Given the description of an element on the screen output the (x, y) to click on. 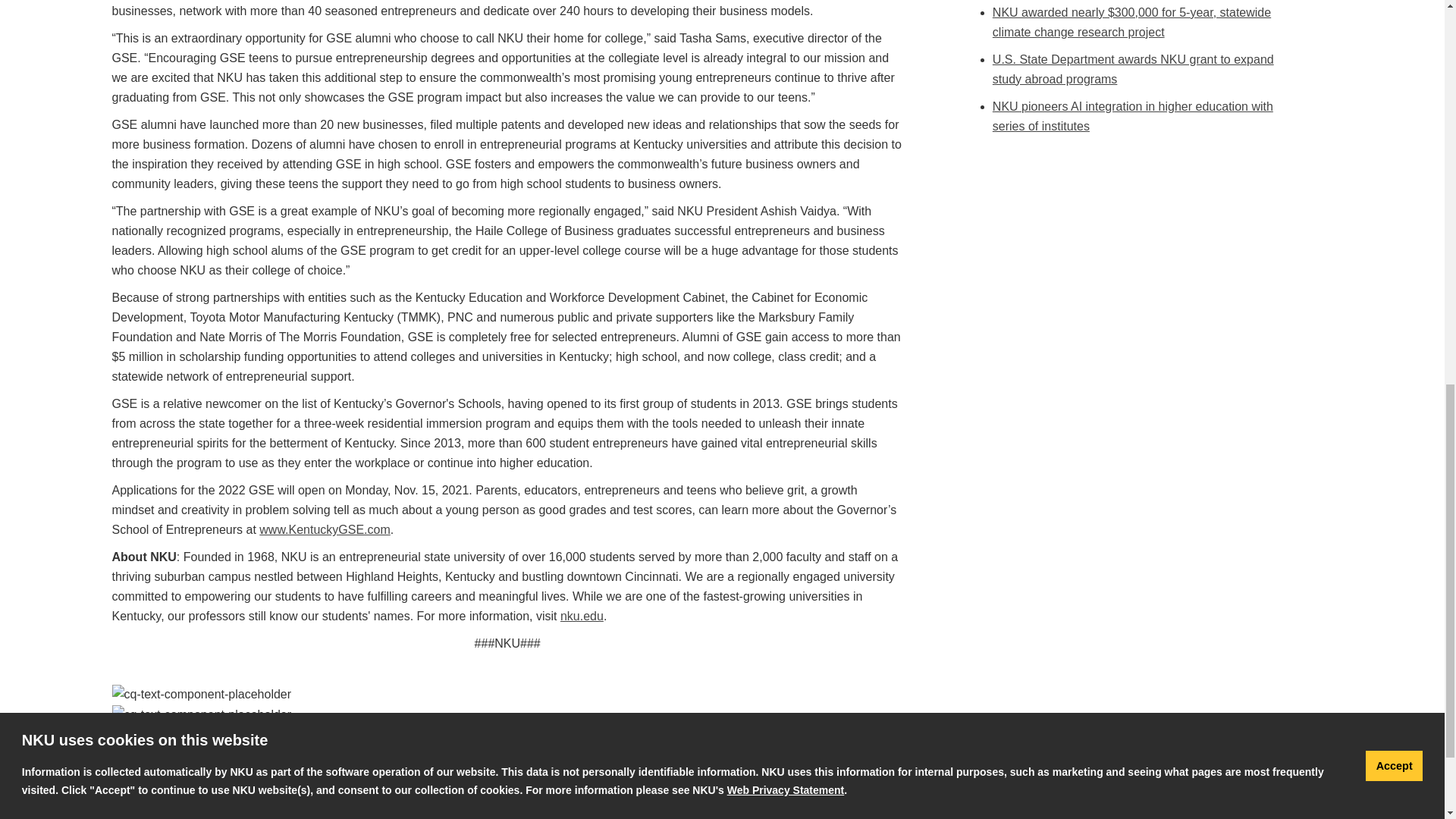
www.KentuckyGSE.com (324, 529)
nku.edu (582, 615)
